Given the description of an element on the screen output the (x, y) to click on. 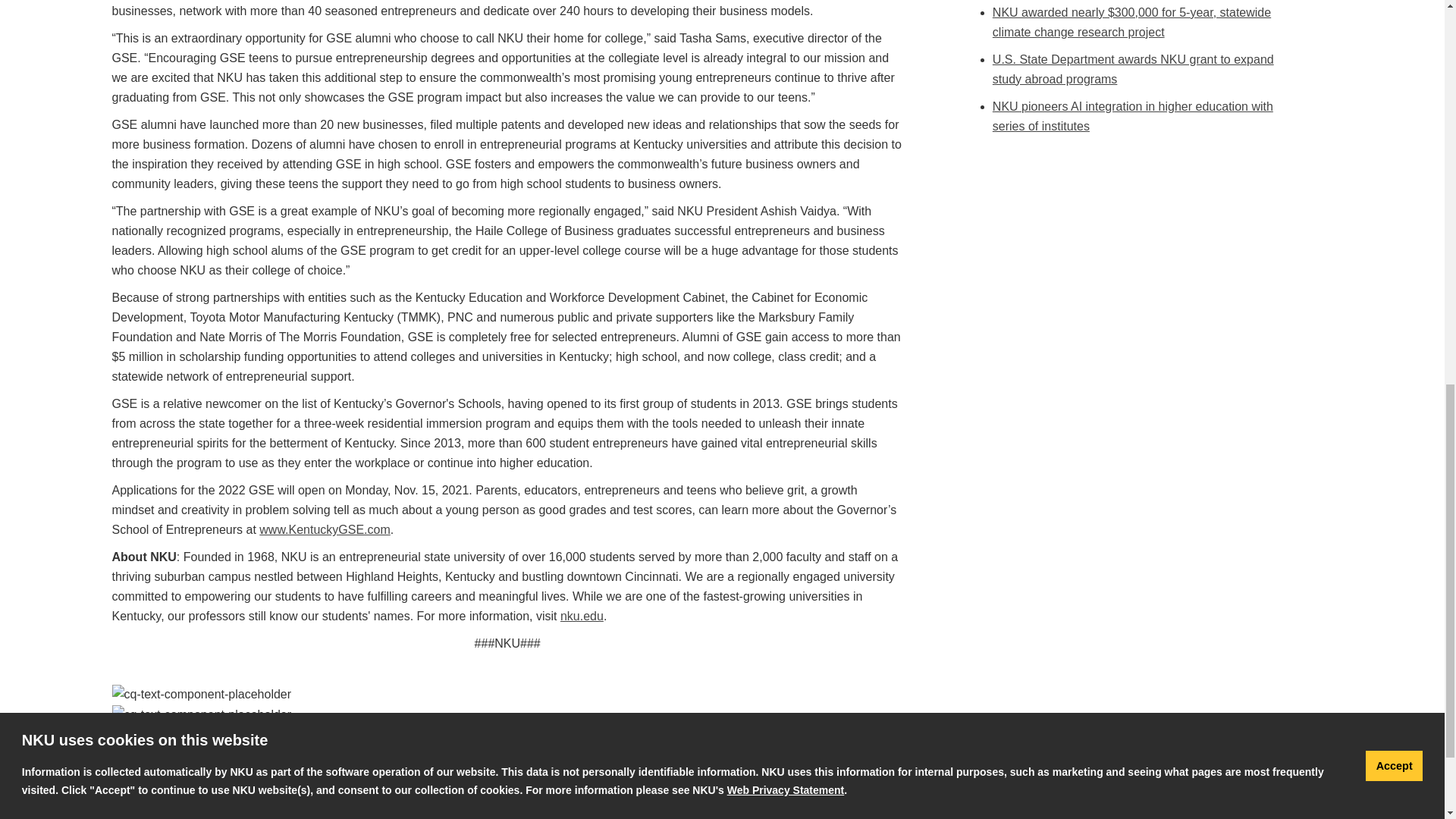
www.KentuckyGSE.com (324, 529)
nku.edu (582, 615)
